Given the description of an element on the screen output the (x, y) to click on. 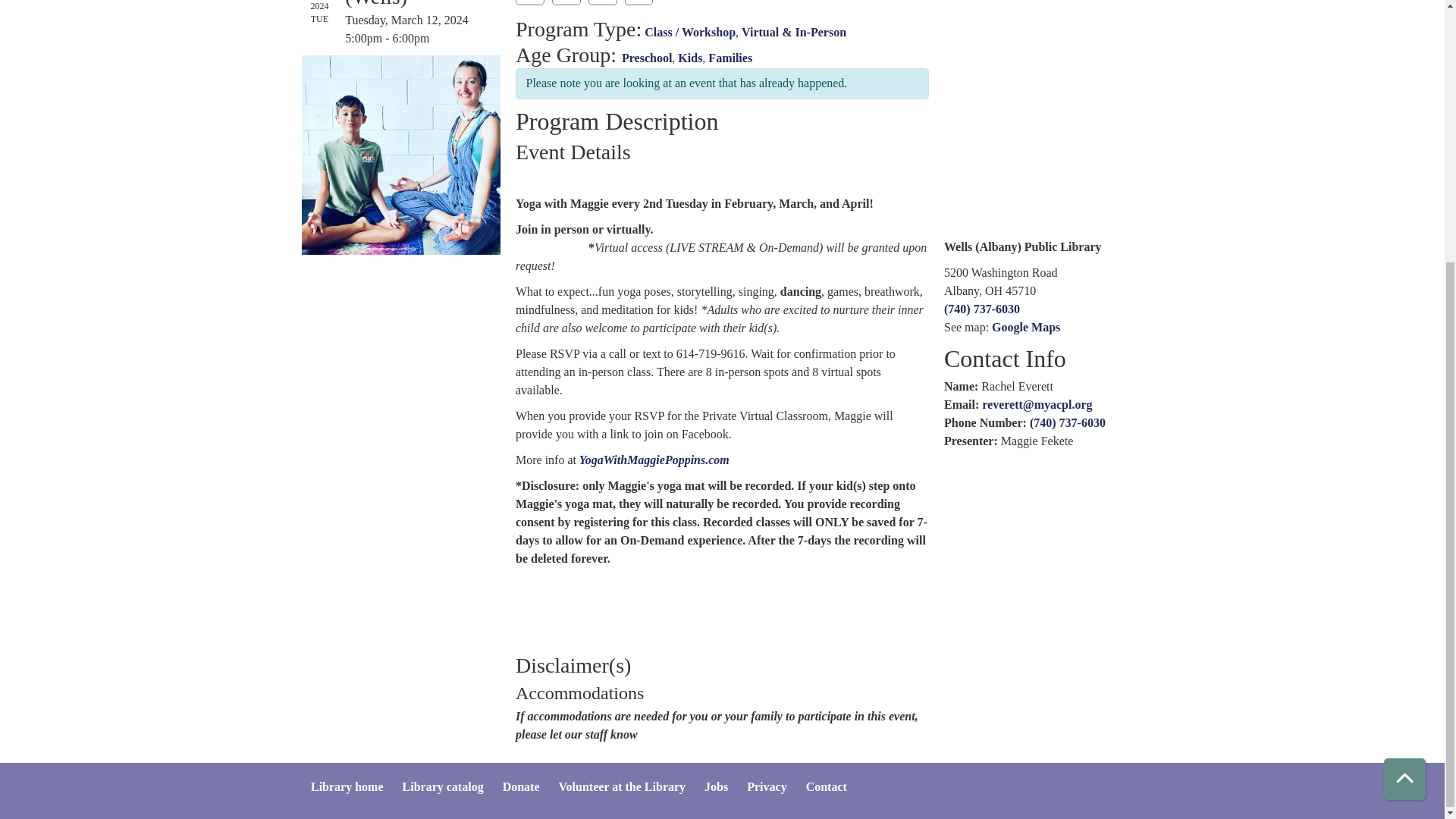
Kids (689, 57)
Remind Me (529, 2)
Print (602, 2)
Share (638, 2)
Preschool (646, 57)
Add To My Calendar (565, 2)
Back To Top (1404, 400)
YogaWithMaggiePoppins.com (654, 459)
Families (729, 57)
